Given the description of an element on the screen output the (x, y) to click on. 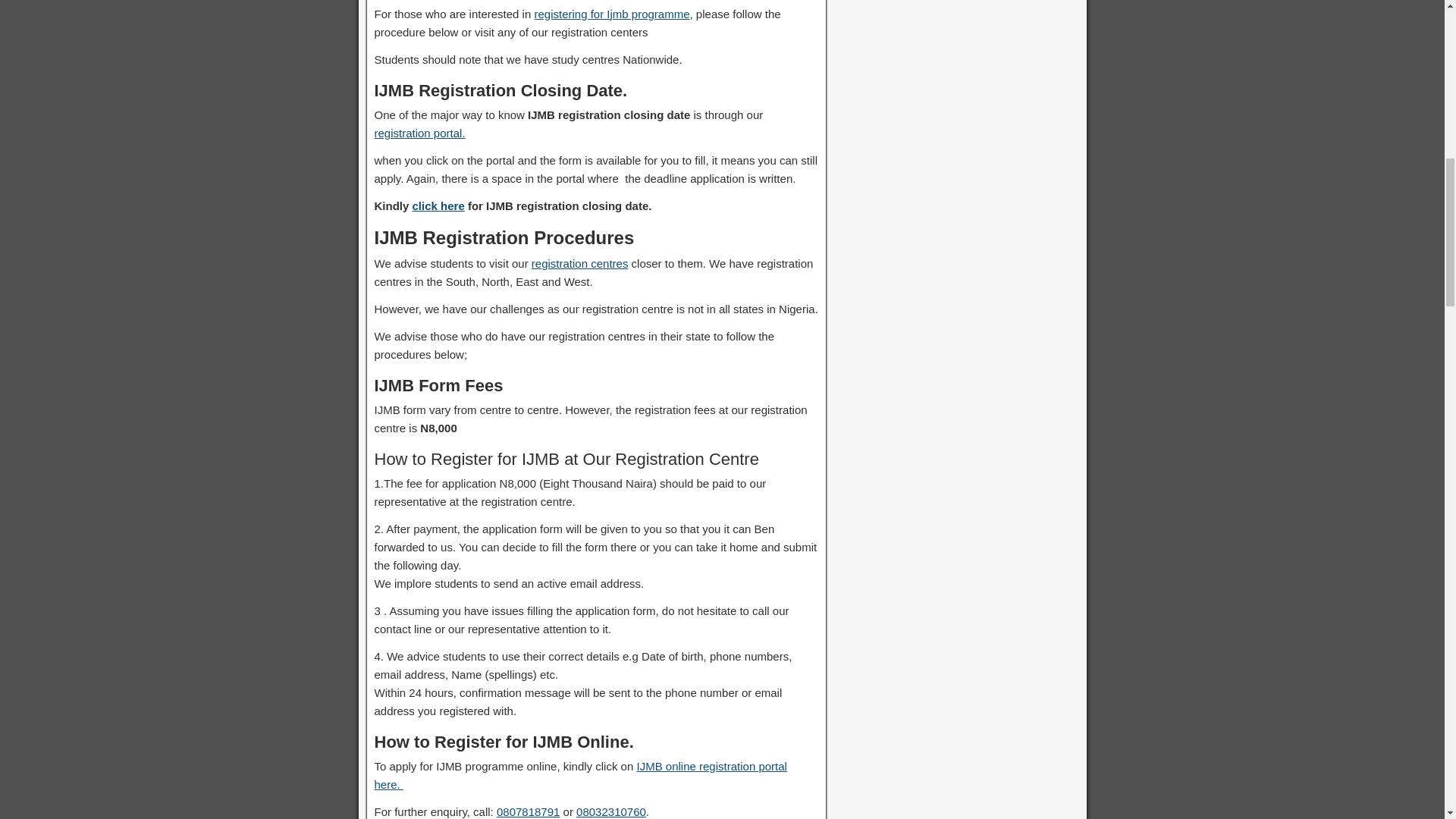
0807818791 (527, 811)
registration portal. (419, 132)
08032310760 (611, 811)
registering for Ijmb programme (611, 13)
IJMB online registration portal here.  (580, 775)
click here (438, 205)
registration centres (579, 263)
